Given the description of an element on the screen output the (x, y) to click on. 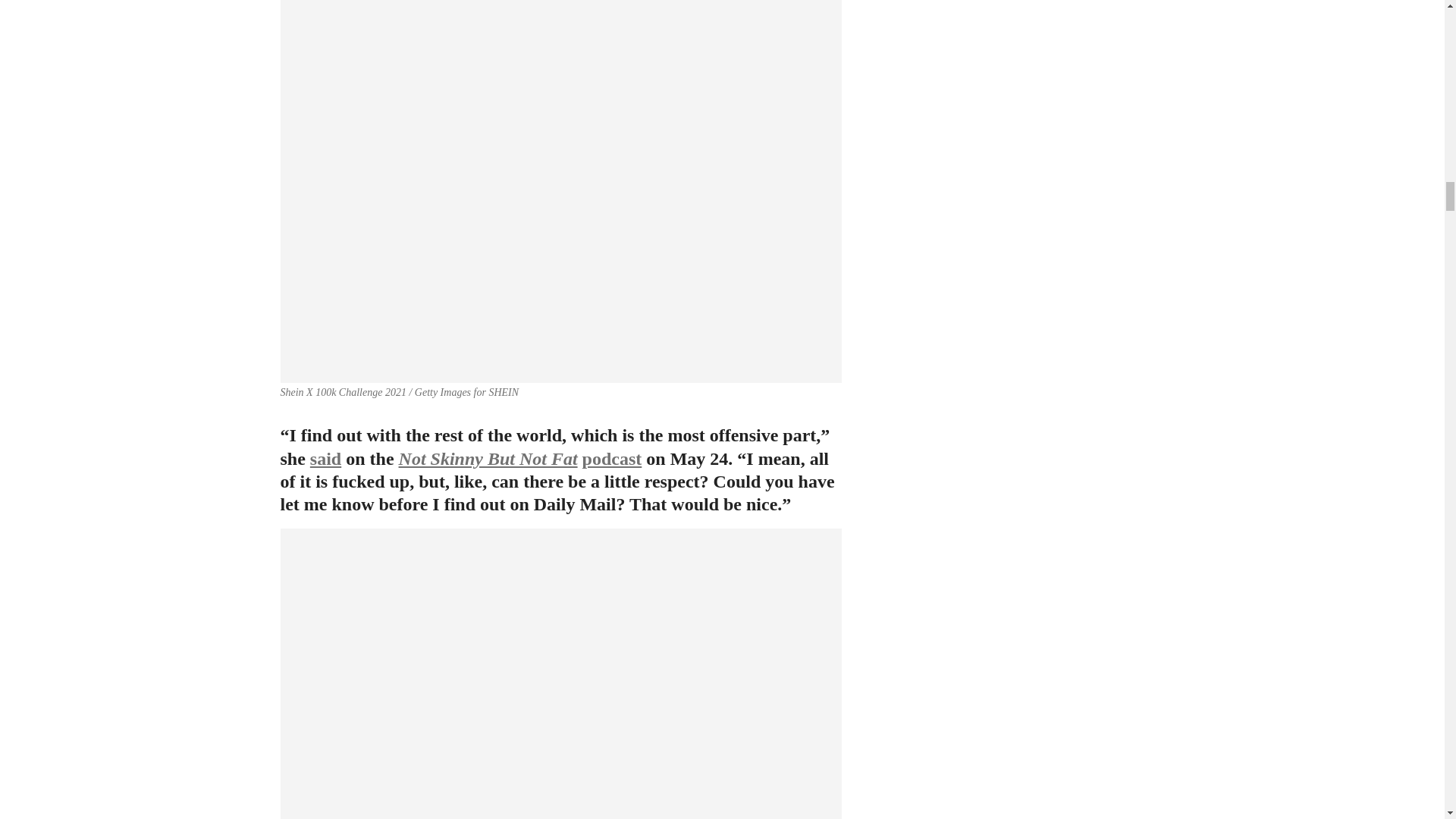
podcast (612, 458)
Not Skinny But Not Fat (488, 458)
said (325, 458)
